Given the description of an element on the screen output the (x, y) to click on. 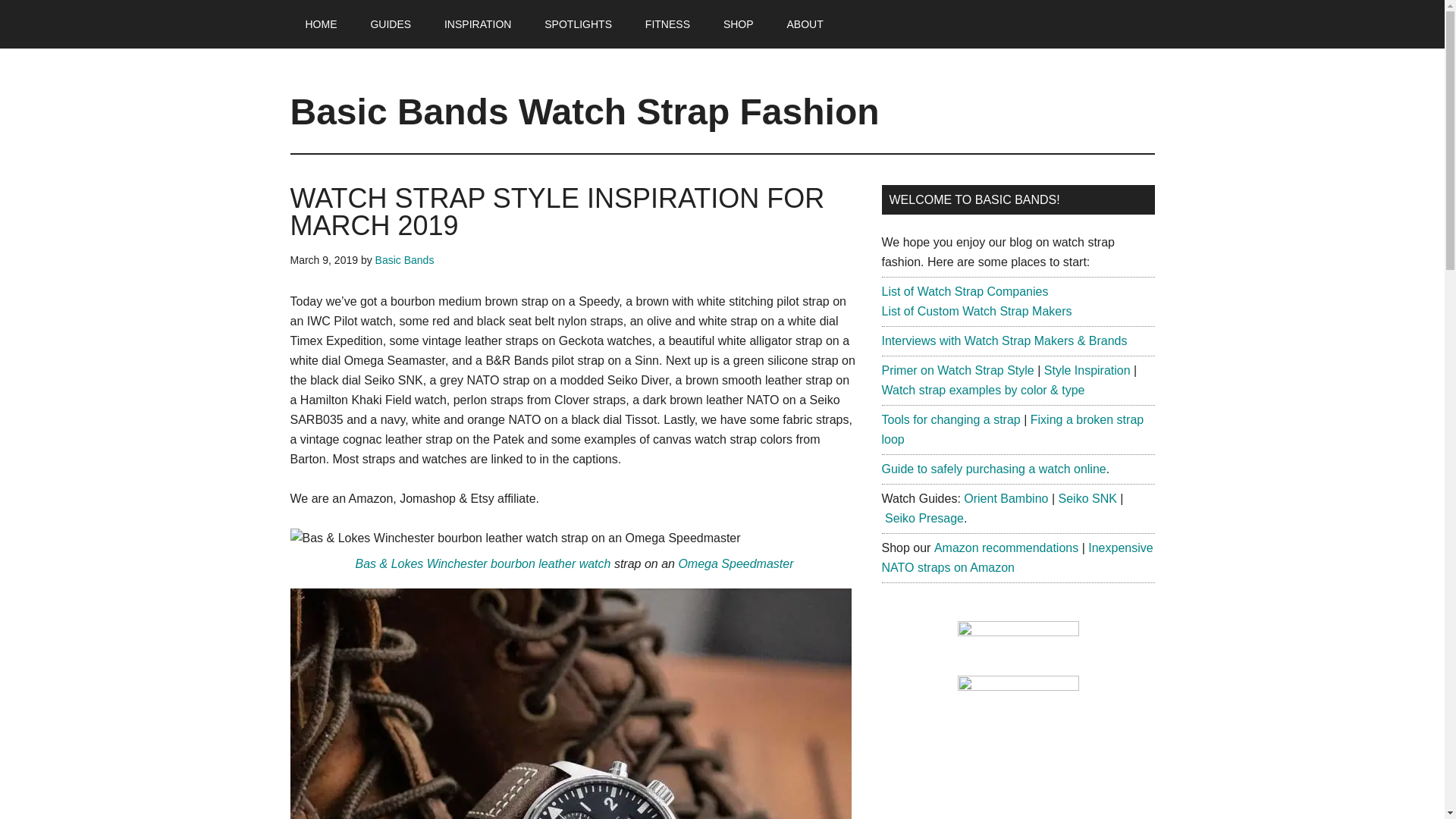
HOME (320, 24)
GUIDES (390, 24)
Basic Bands Watch Strap Fashion (584, 111)
Basic Bands (404, 259)
INSPIRATION (477, 24)
SPOTLIGHTS (578, 24)
ABOUT (804, 24)
FITNESS (667, 24)
SHOP (737, 24)
Omega Speedmaster (735, 563)
